Given the description of an element on the screen output the (x, y) to click on. 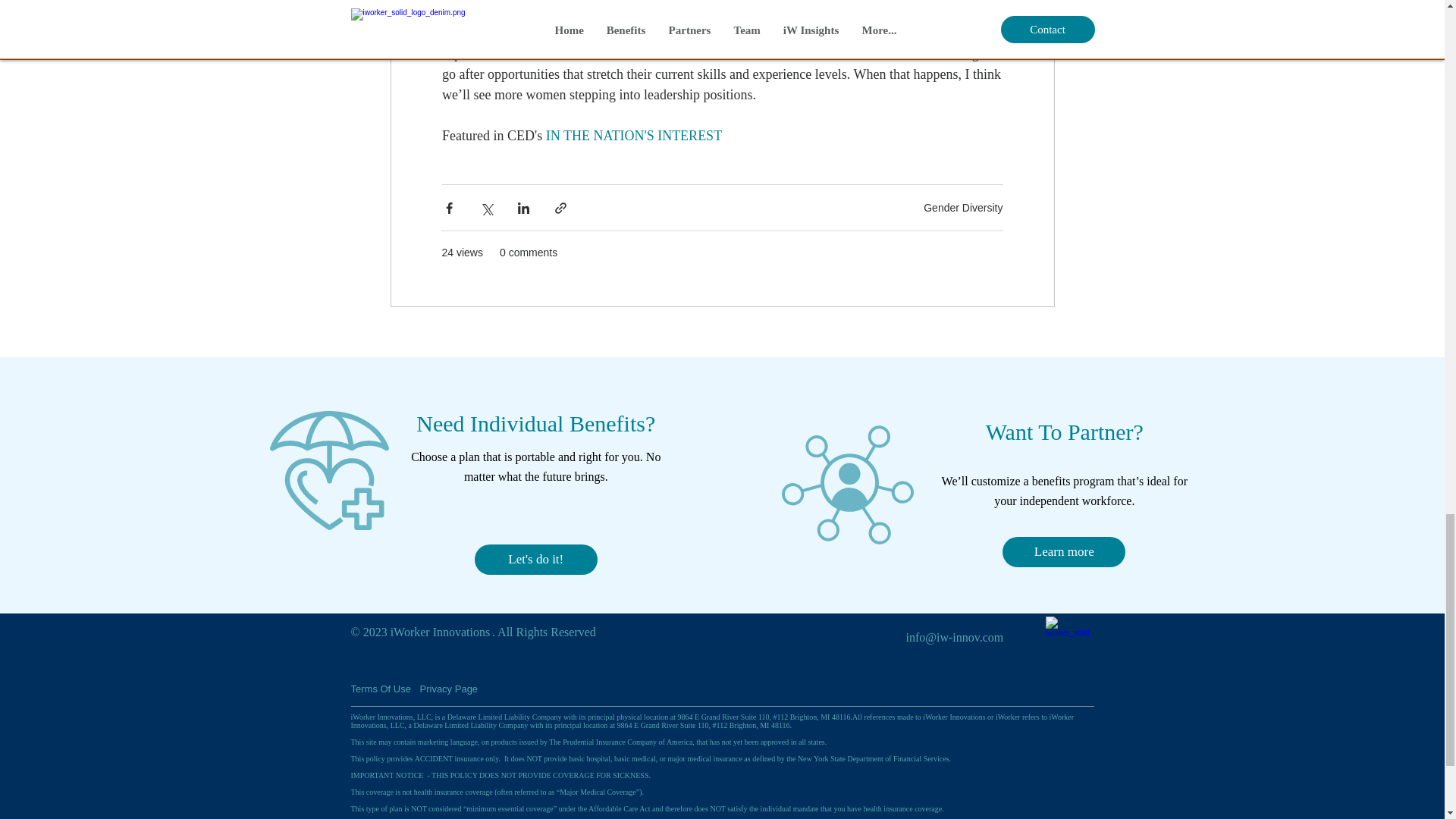
IN THE NATION'S INTEREST (632, 135)
Privacy Page (455, 689)
Let's do it! (535, 559)
Terms Of Use (381, 689)
Learn more (1064, 552)
Gender Diversity (963, 207)
